Given the description of an element on the screen output the (x, y) to click on. 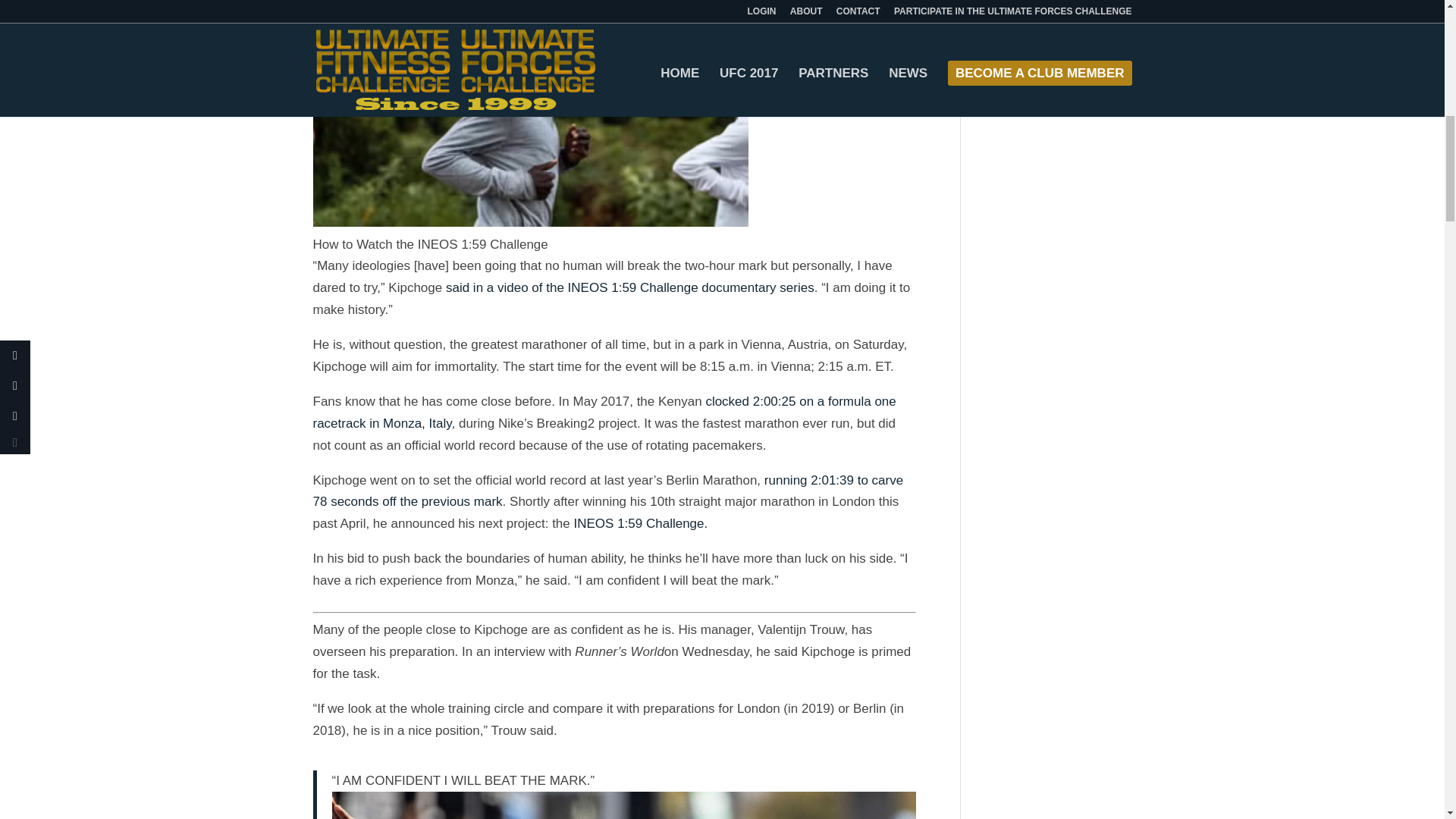
image (530, 116)
running 2:01:39 to carve 78 seconds off the previous mark (607, 491)
clocked 2:00:25 on a formula one racetrack in Monza, Italy (604, 411)
INEOS 1:59 Challenge. (640, 523)
